Given the description of an element on the screen output the (x, y) to click on. 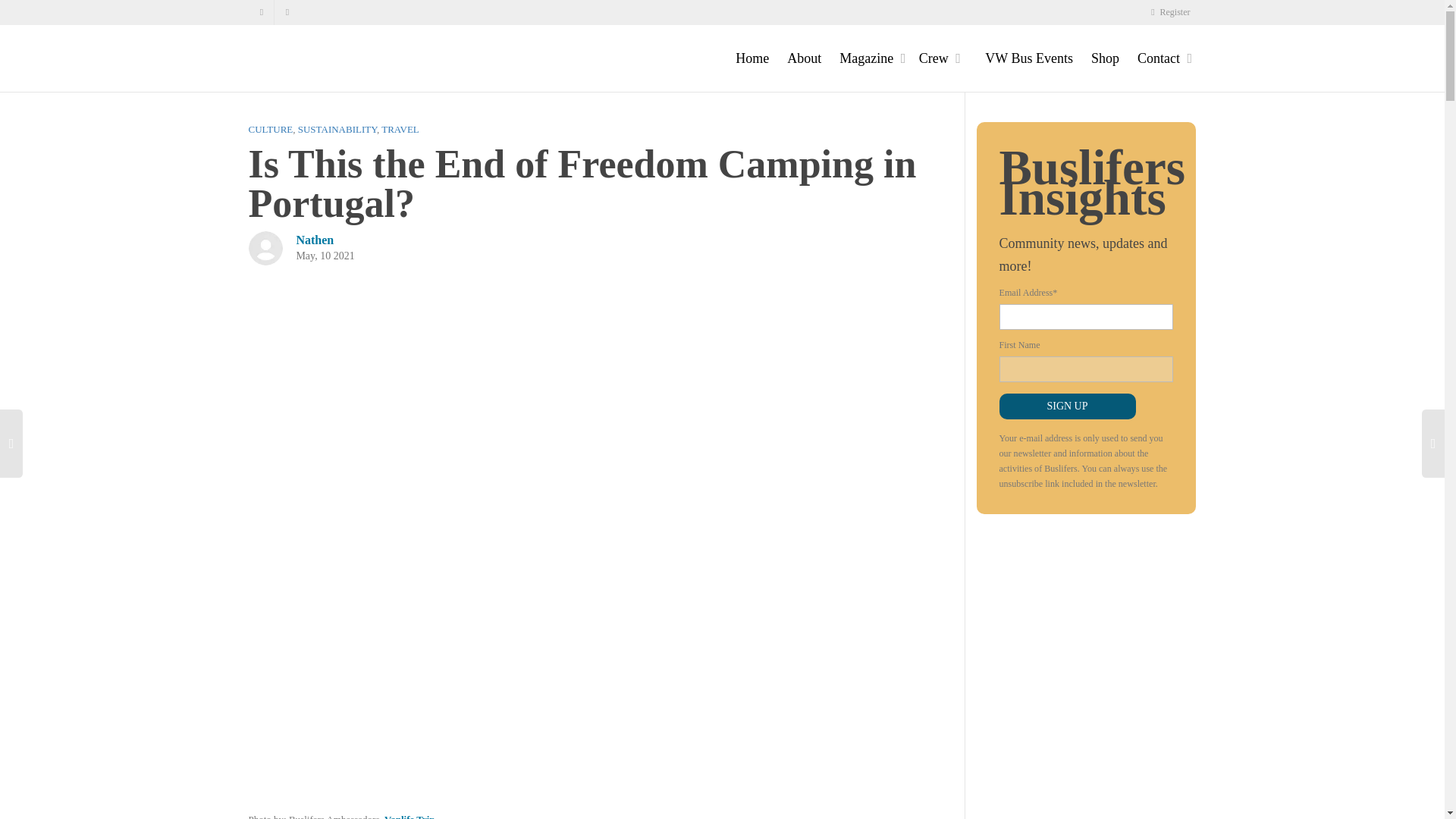
Vanlife Trip (409, 816)
Magazine (869, 58)
SIGN UP (1066, 406)
SUSTAINABILITY (337, 129)
VW Bus Events (1029, 58)
Nathen (314, 239)
Buslifers (362, 57)
TRAVEL (400, 129)
Magazine (869, 58)
Register (1168, 12)
CULTURE (271, 129)
Register (1168, 12)
